Given the description of an element on the screen output the (x, y) to click on. 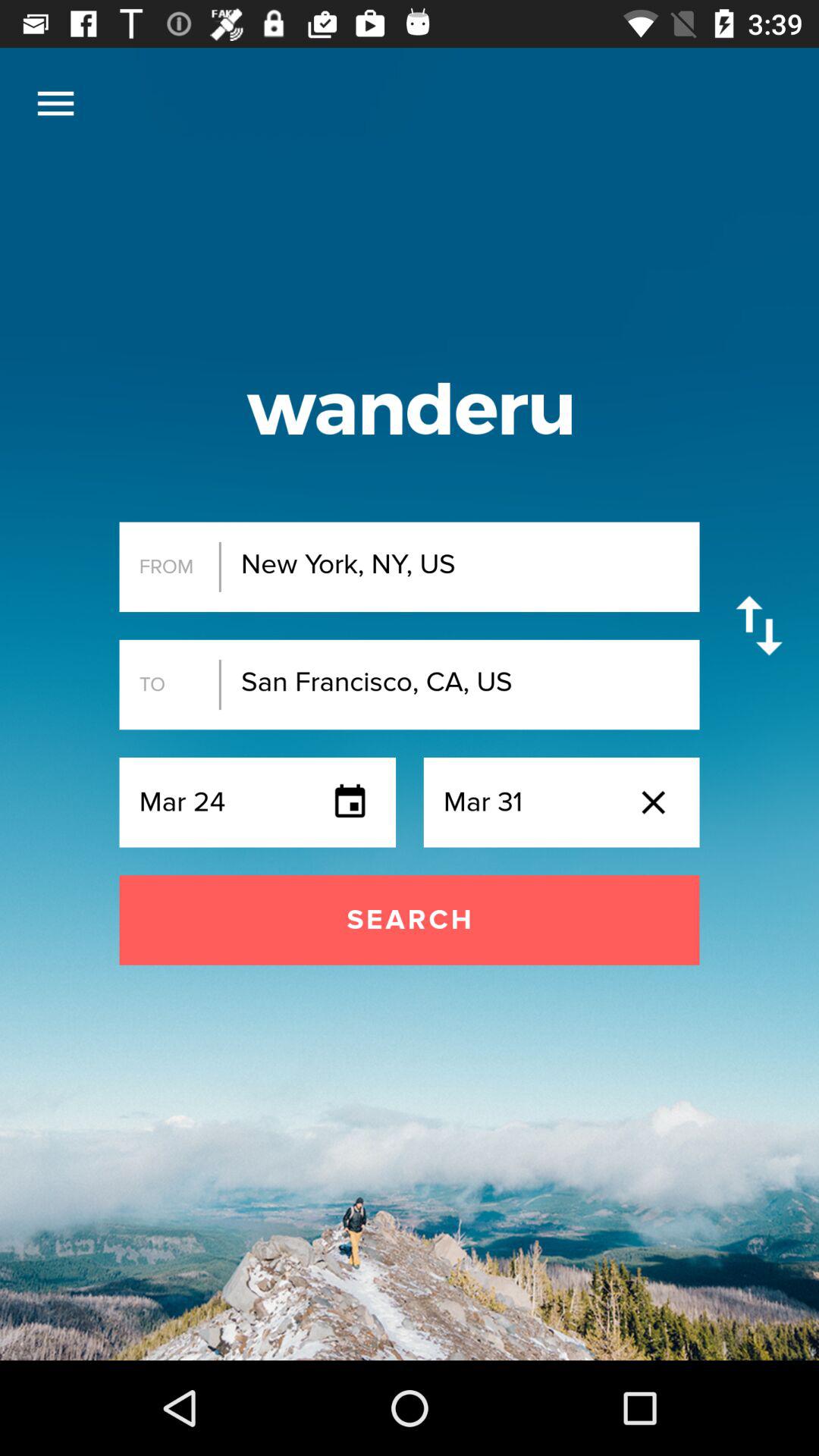
exchange cities (759, 625)
